Given the description of an element on the screen output the (x, y) to click on. 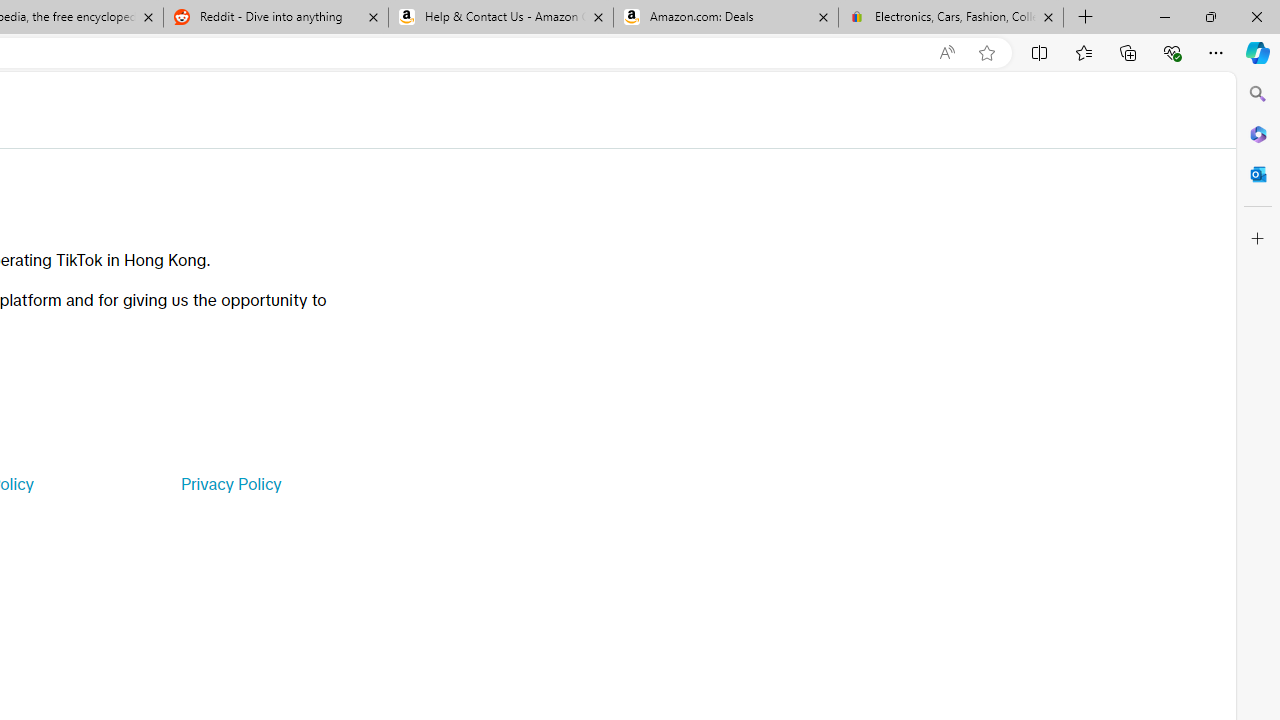
Amazon.com: Deals (726, 17)
